Given the description of an element on the screen output the (x, y) to click on. 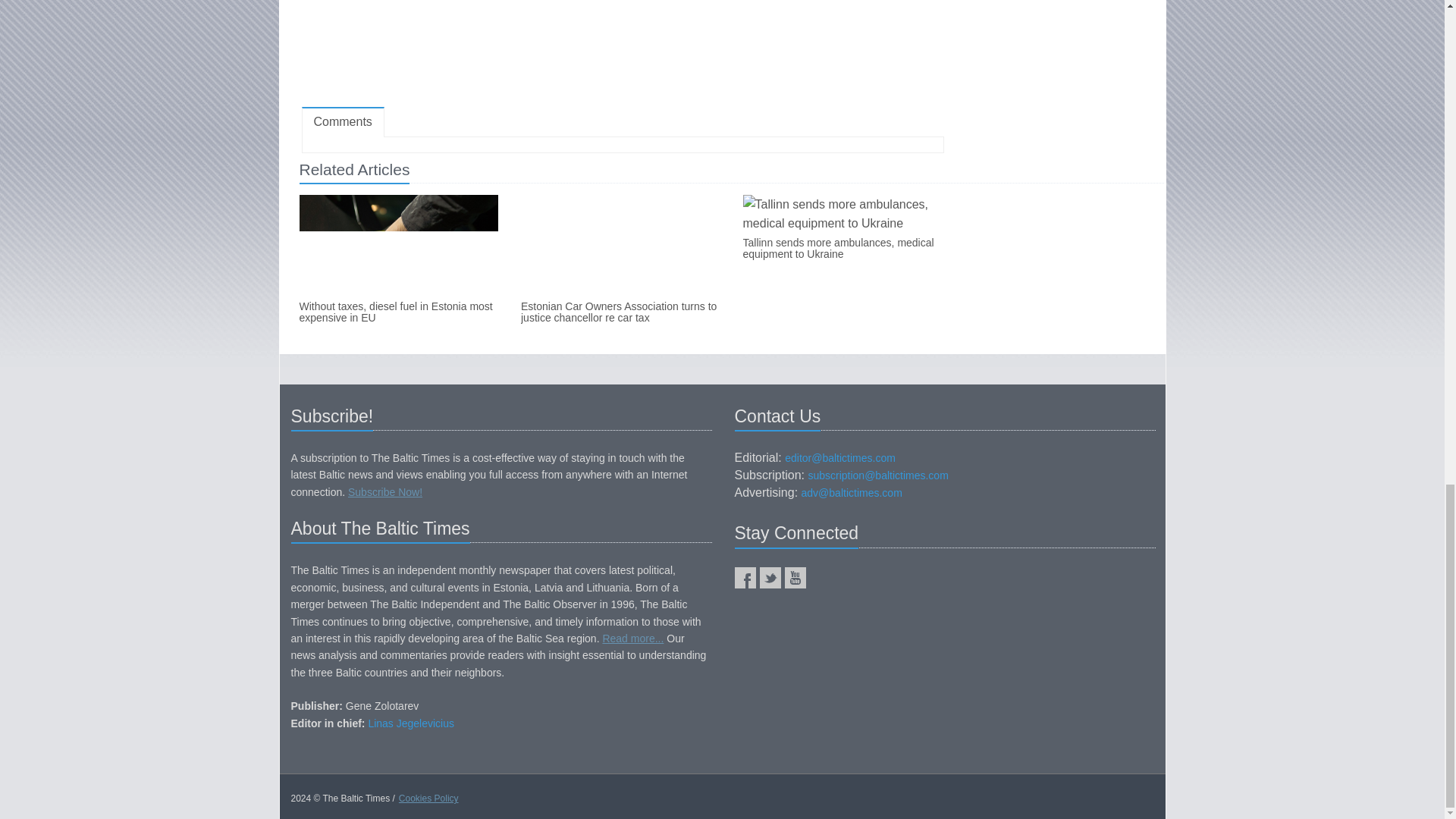
Comments (342, 122)
Without taxes, diesel fuel in Estonia most expensive in EU (397, 312)
Tallinn sends more ambulances, medical equipment to Ukraine (842, 249)
